Given the description of an element on the screen output the (x, y) to click on. 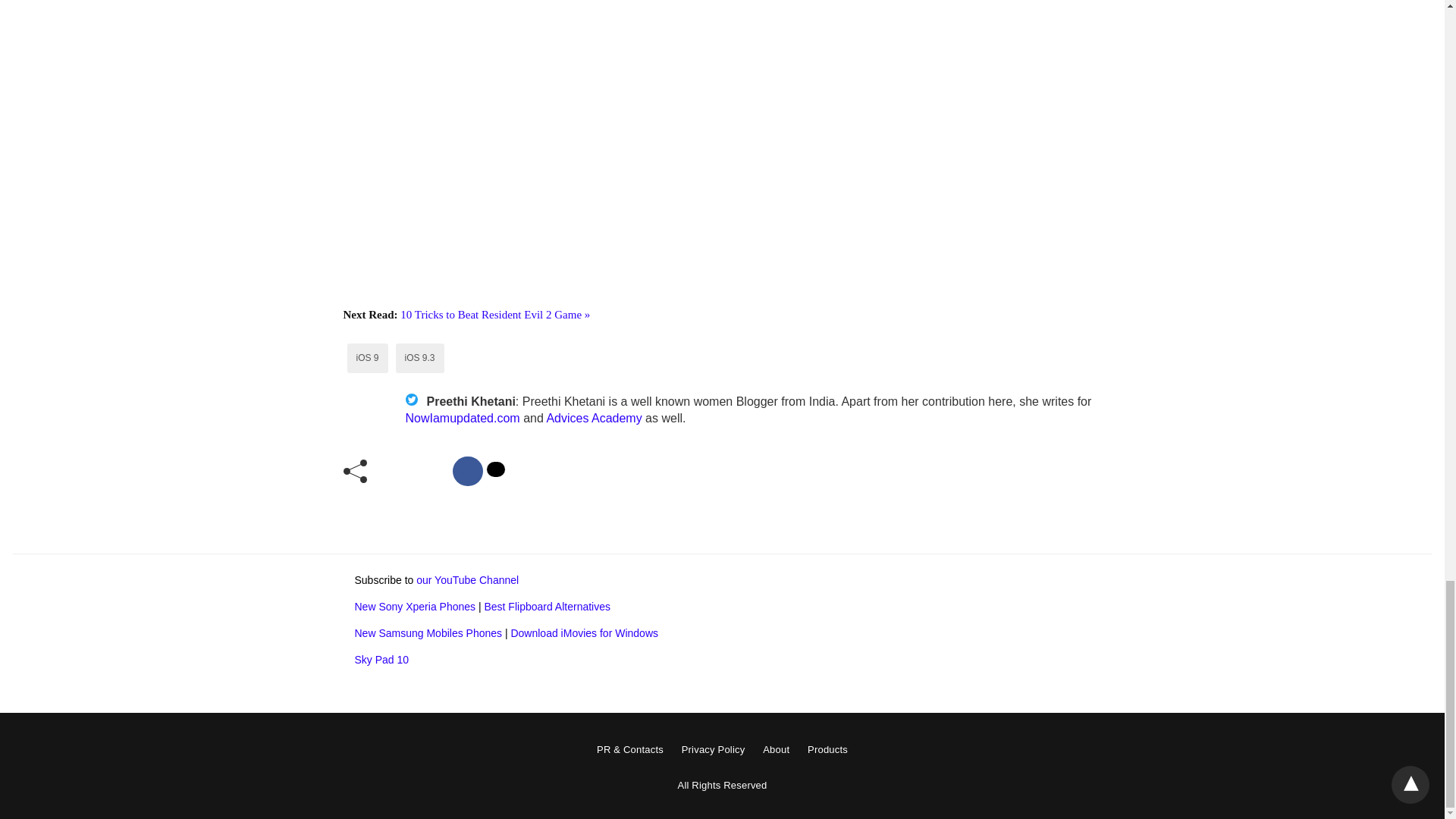
twitter share (495, 468)
About (775, 749)
Download iMovies for Windows (584, 633)
Sky Pad 10 (382, 659)
iOS 9 (367, 357)
iOS 9.3 (419, 357)
Privacy Policy (713, 749)
Best Flipboard Alternatives (546, 606)
facebook share (467, 471)
New Samsung Mobiles Phones (428, 633)
